Given the description of an element on the screen output the (x, y) to click on. 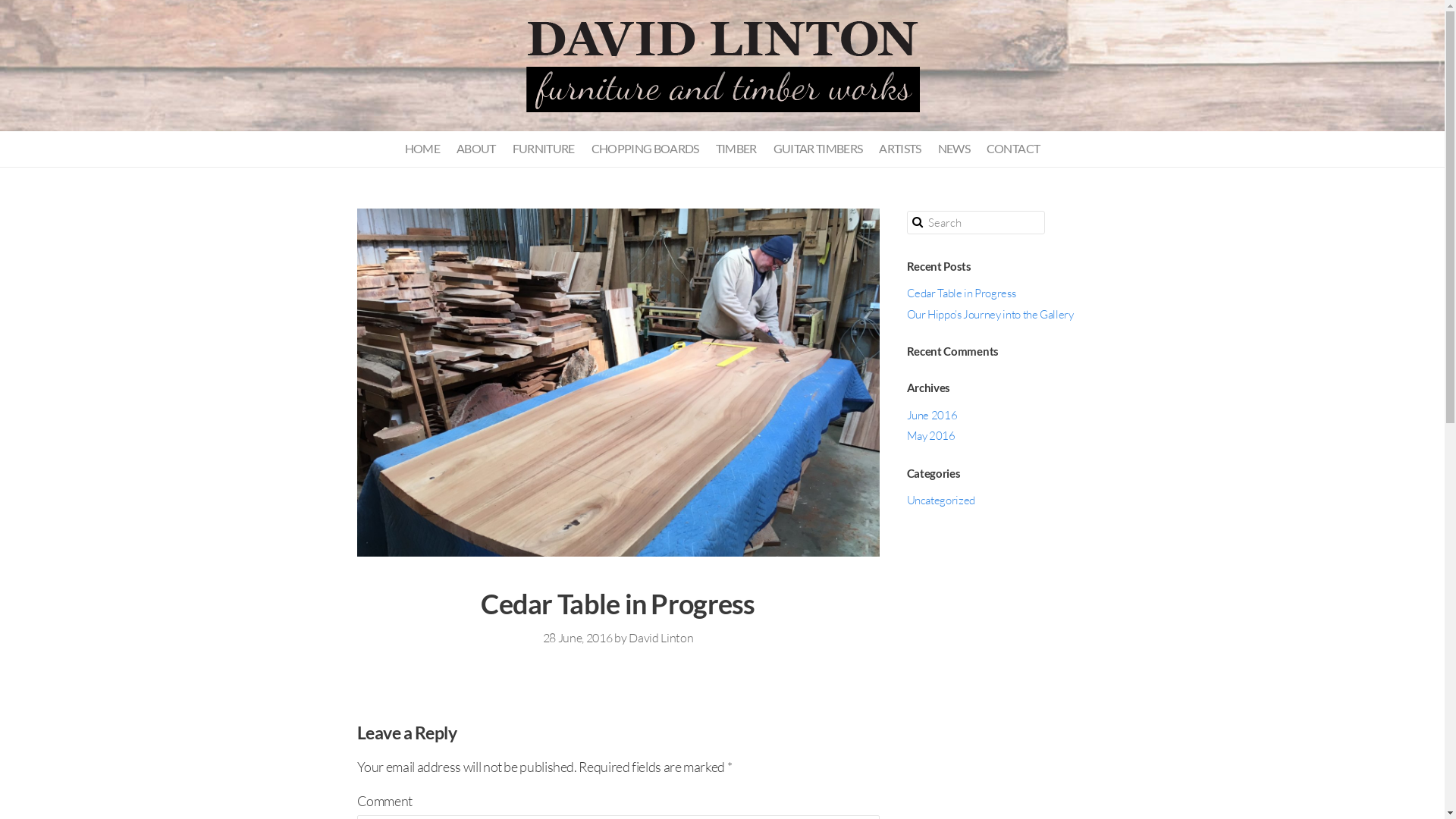
GUITAR TIMBERS Element type: text (817, 148)
NEWS Element type: text (953, 148)
CHOPPING BOARDS Element type: text (644, 148)
CONTACT Element type: text (1013, 148)
Uncategorized Element type: text (940, 499)
June 2016 Element type: text (931, 414)
David Linton Element type: text (660, 637)
Cedar Table in Progress Element type: text (961, 292)
TIMBER Element type: text (736, 148)
FURNITURE Element type: text (543, 148)
ARTISTS Element type: text (900, 148)
ABOUT Element type: text (475, 148)
May 2016 Element type: text (930, 435)
HOME Element type: text (422, 148)
